Given the description of an element on the screen output the (x, y) to click on. 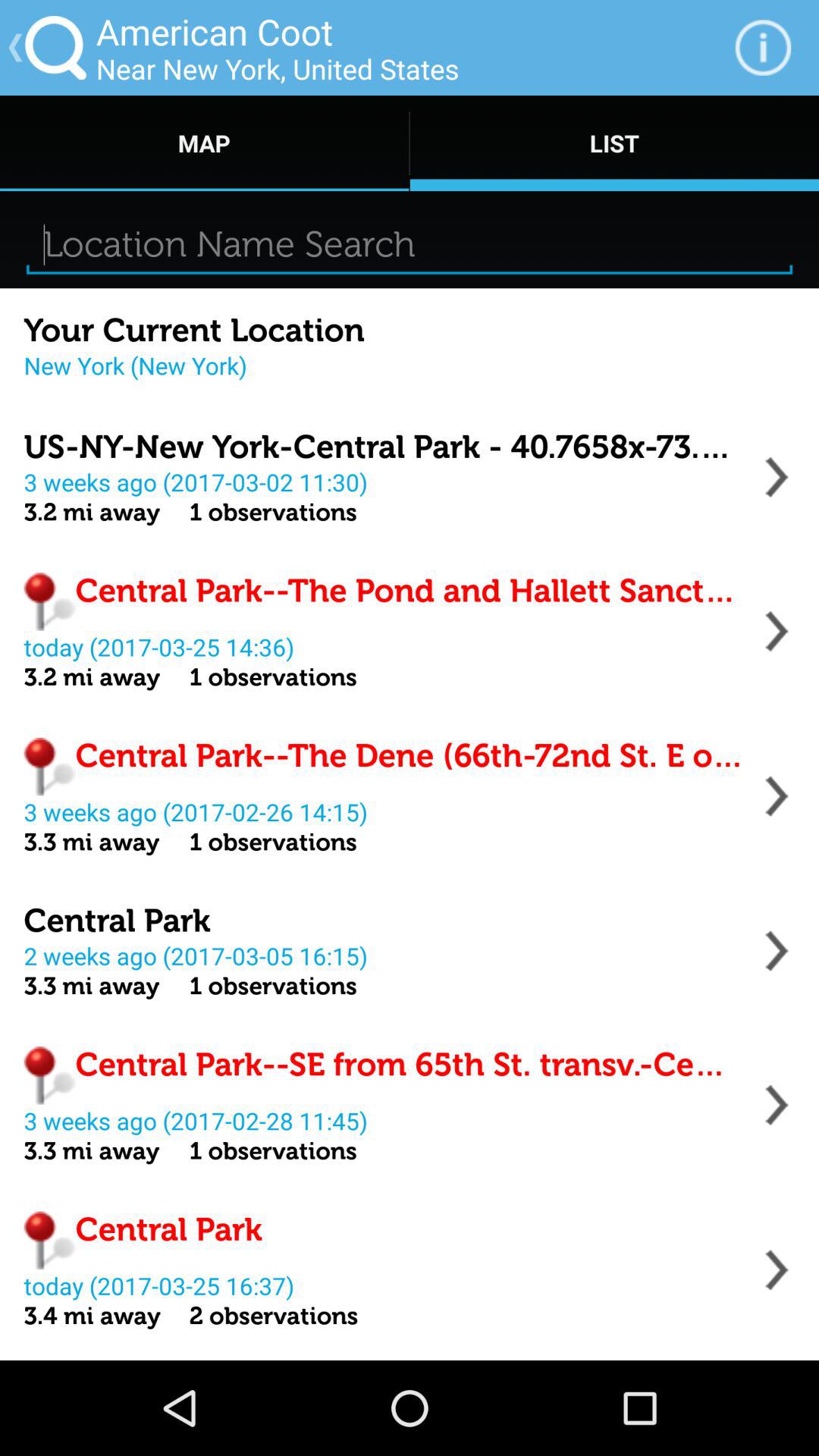
choose the item above the your current location (409, 244)
